Given the description of an element on the screen output the (x, y) to click on. 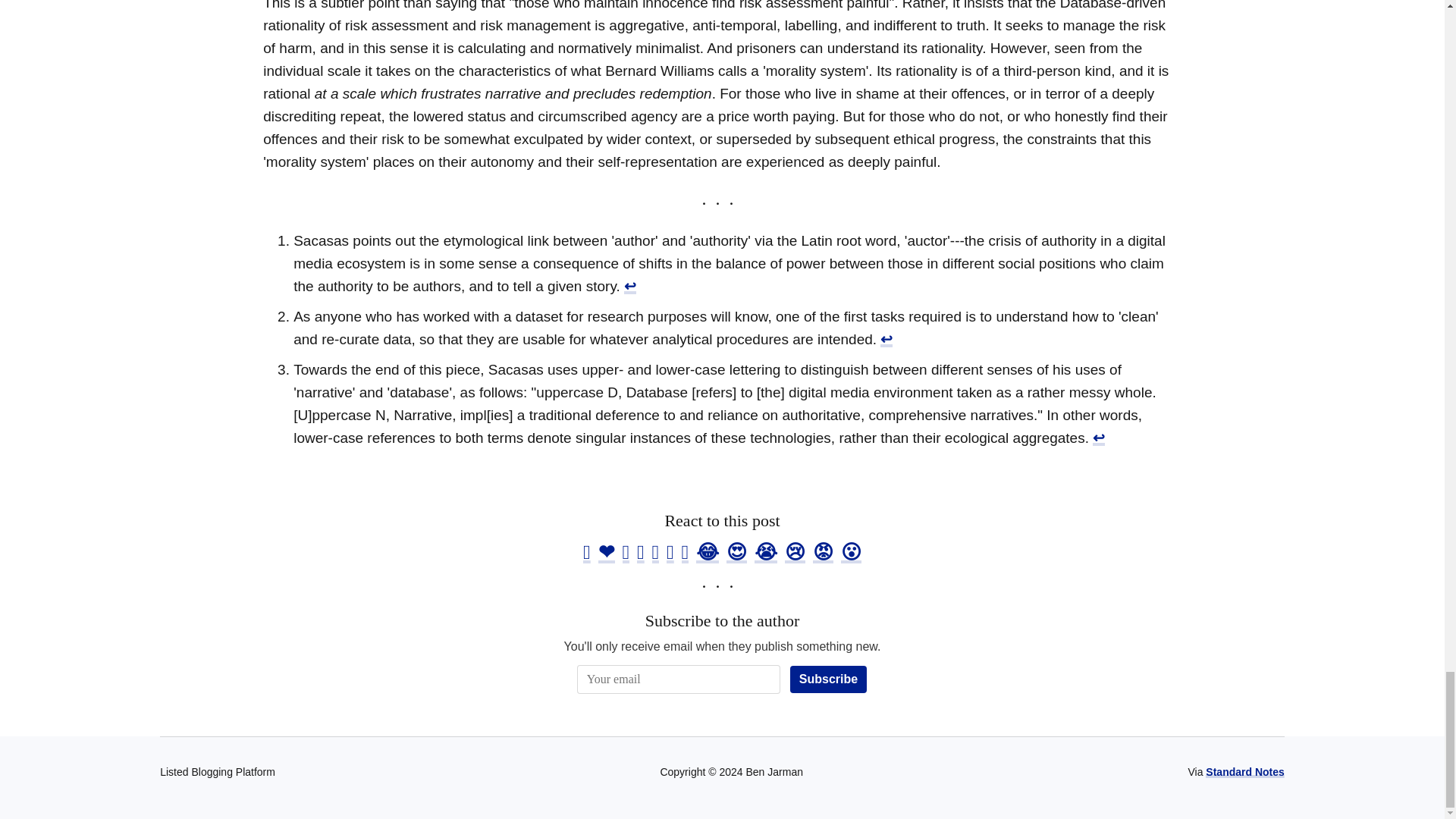
Standard Notes (1244, 771)
Subscribe (828, 678)
